Given the description of an element on the screen output the (x, y) to click on. 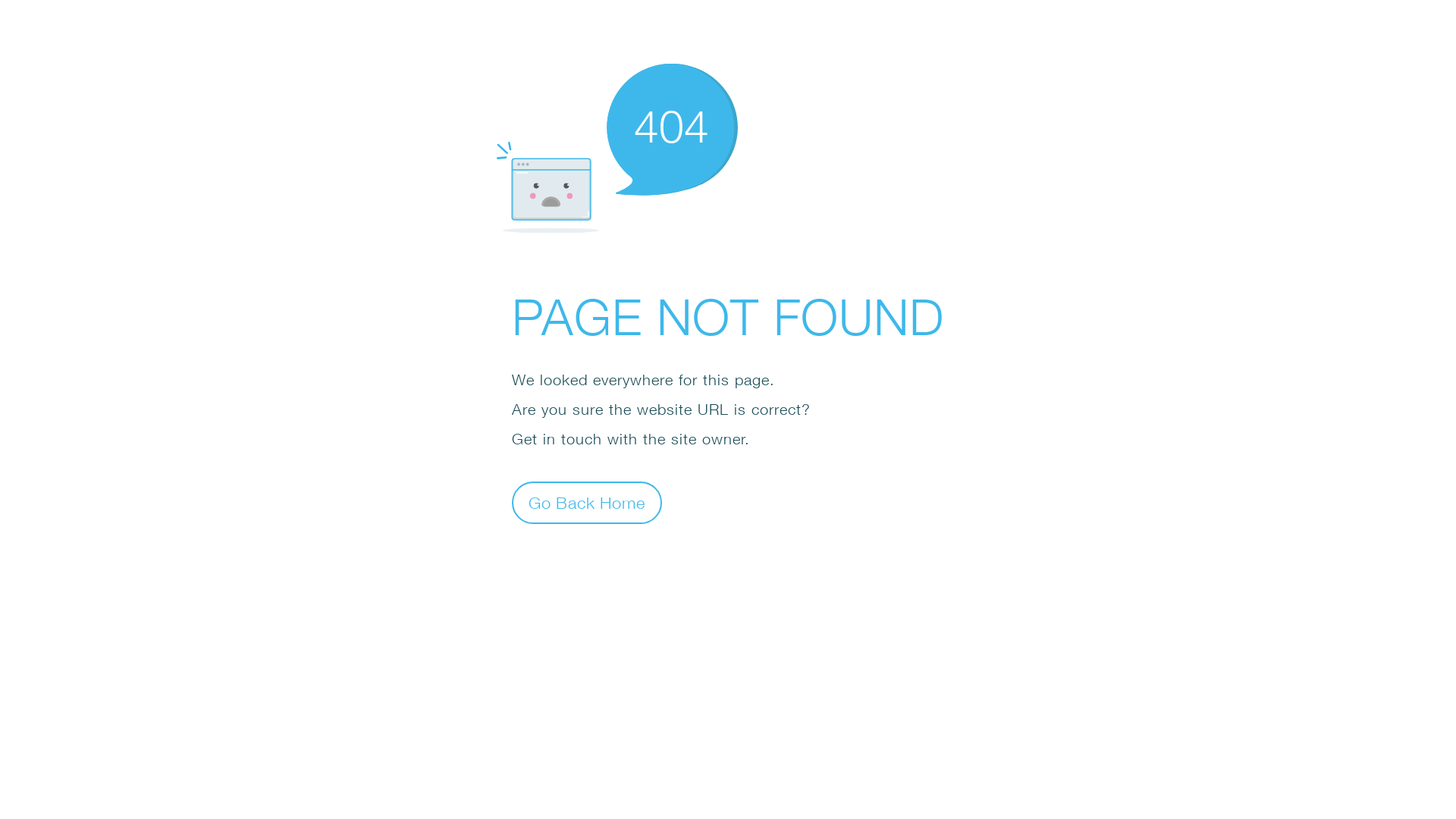
Go Back Home Element type: text (586, 502)
